Given the description of an element on the screen output the (x, y) to click on. 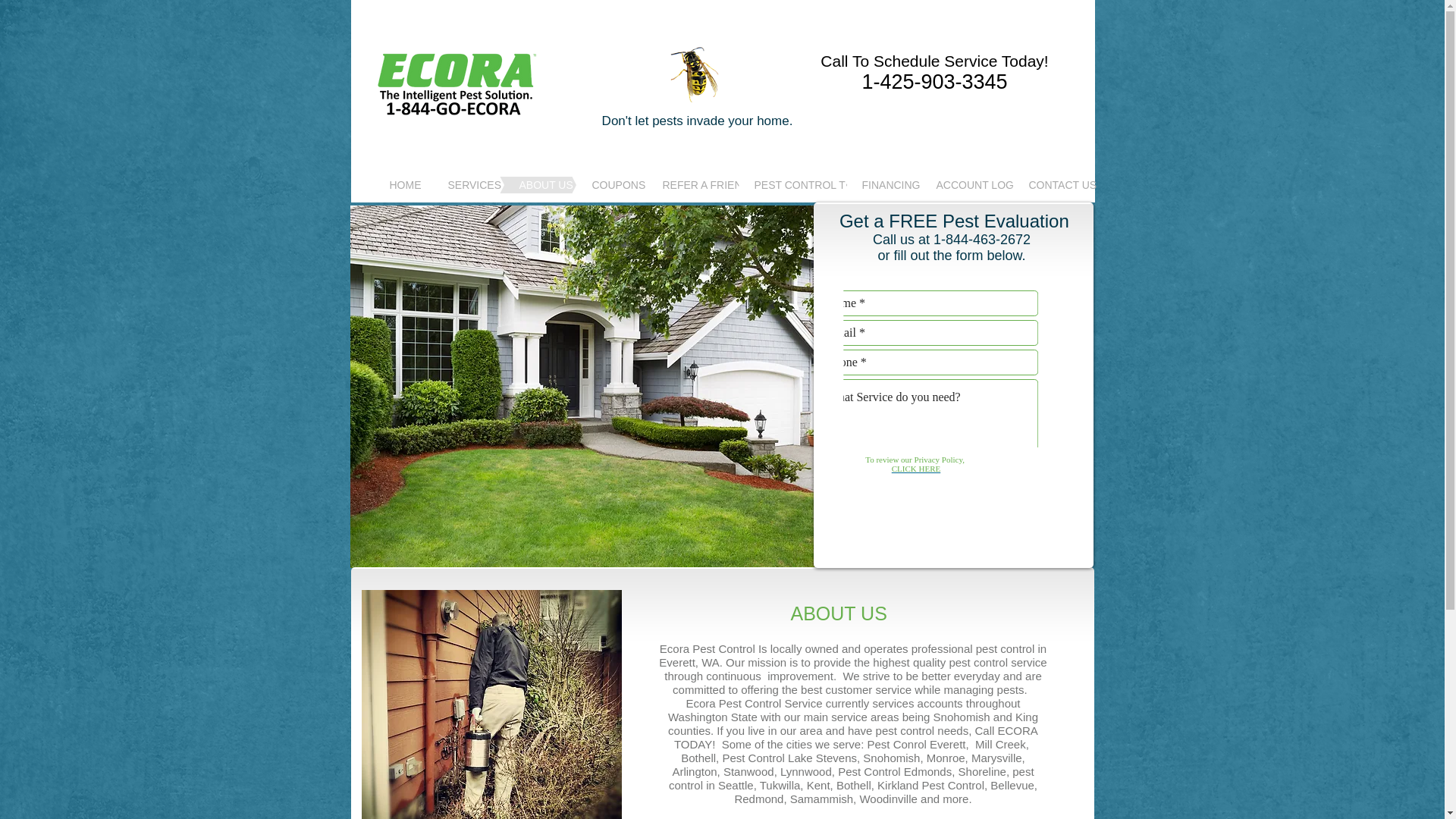
CLICK HERE (915, 468)
HOME (376, 184)
ACCOUNT LOGIN (939, 184)
SERVICES (440, 184)
CONTACT US (1026, 184)
COUPONS (584, 184)
REFER A FRIEND (666, 184)
ABOUT US (512, 184)
FINANCING (856, 184)
